Given the description of an element on the screen output the (x, y) to click on. 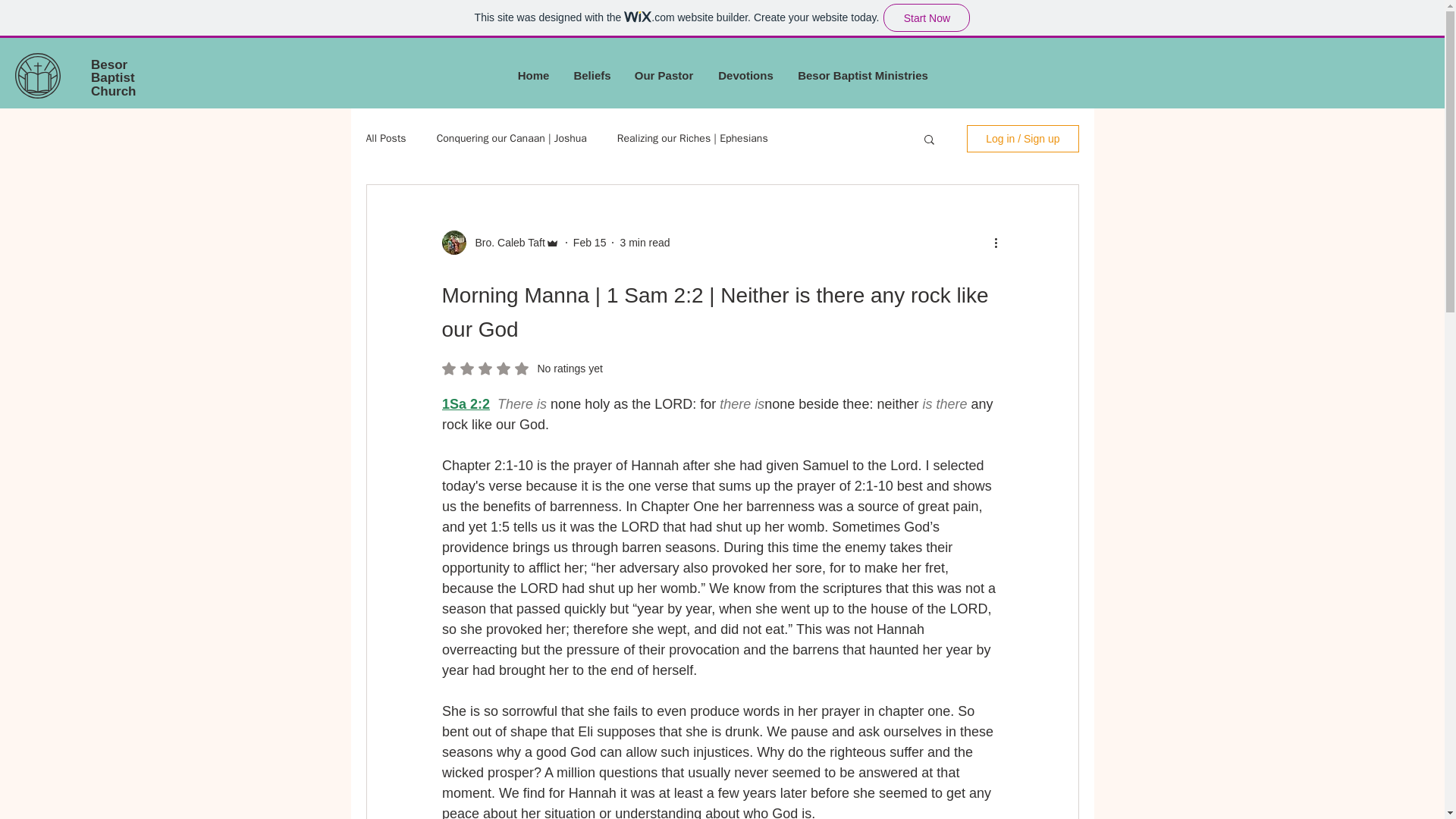
Beliefs (592, 75)
Besor Baptist Church (113, 77)
Our Pastor (663, 75)
Home (533, 75)
All Posts (385, 138)
Besor Baptist Ministries (862, 75)
1Sa 2:2 (465, 403)
Feb 15 (590, 242)
3 min read (644, 242)
Bro. Caleb Taft (504, 242)
Devotions (521, 368)
